Given the description of an element on the screen output the (x, y) to click on. 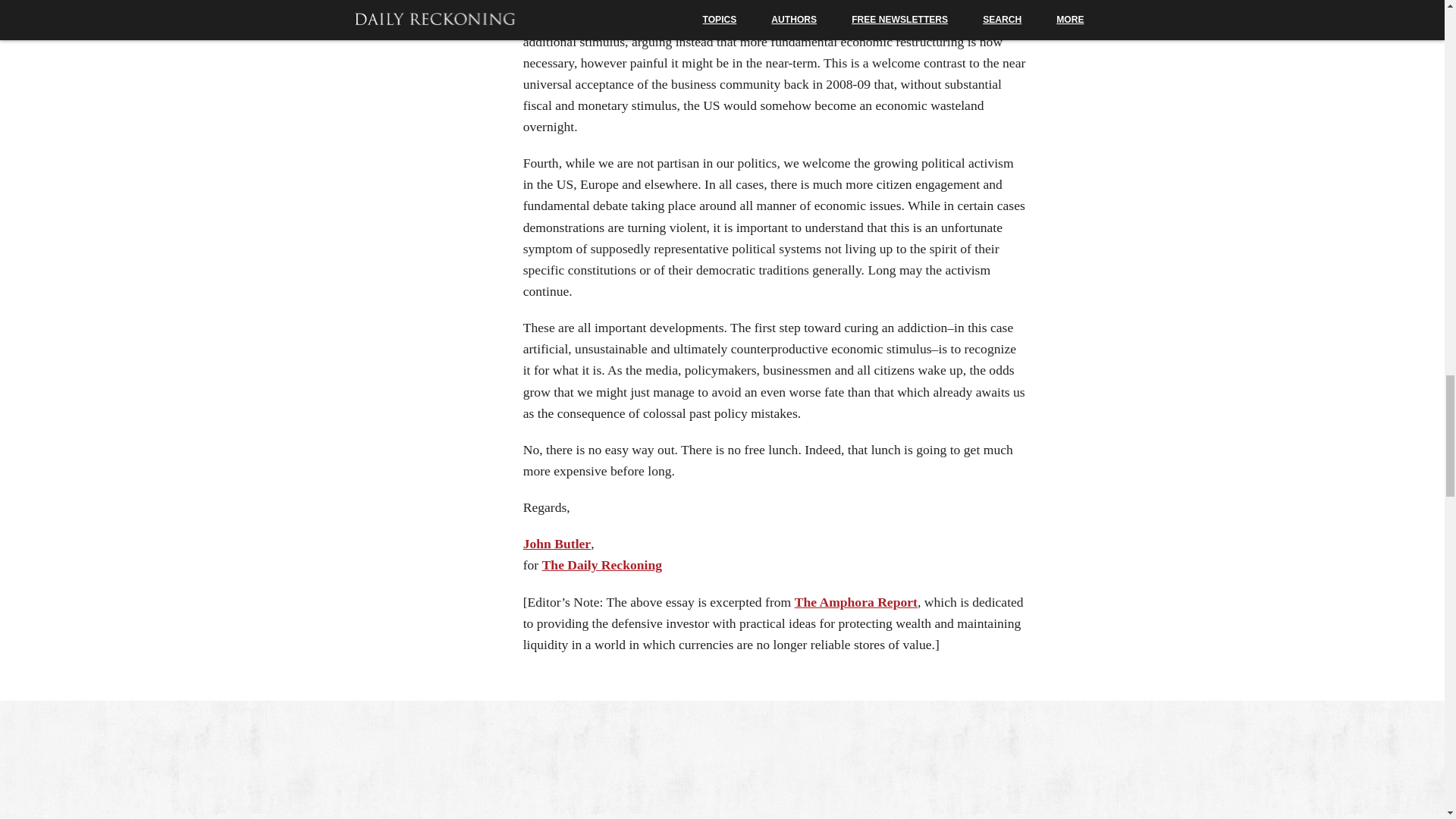
The Daily Reckoning (601, 564)
The Amphora Report (855, 601)
The Amphora Report (855, 601)
John Butler (556, 543)
John Butler (556, 543)
The Daily Reckoning (601, 564)
